Given the description of an element on the screen output the (x, y) to click on. 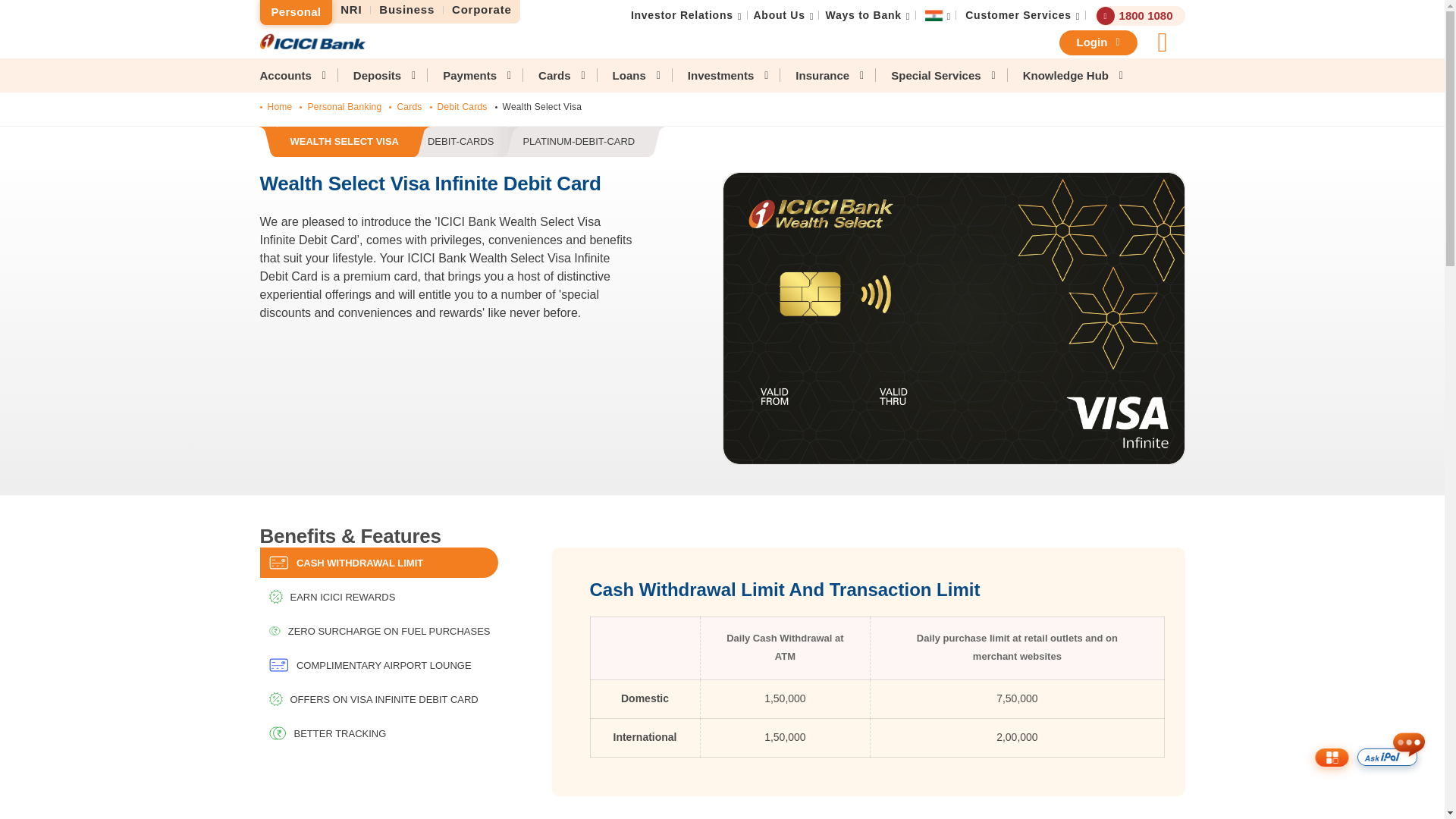
Personal (461, 142)
Customer Services (295, 12)
About Us (1018, 15)
Ways to Bank (779, 15)
Business (863, 15)
Investor Relations (407, 9)
Corporate (681, 15)
NRI (481, 9)
